Given the description of an element on the screen output the (x, y) to click on. 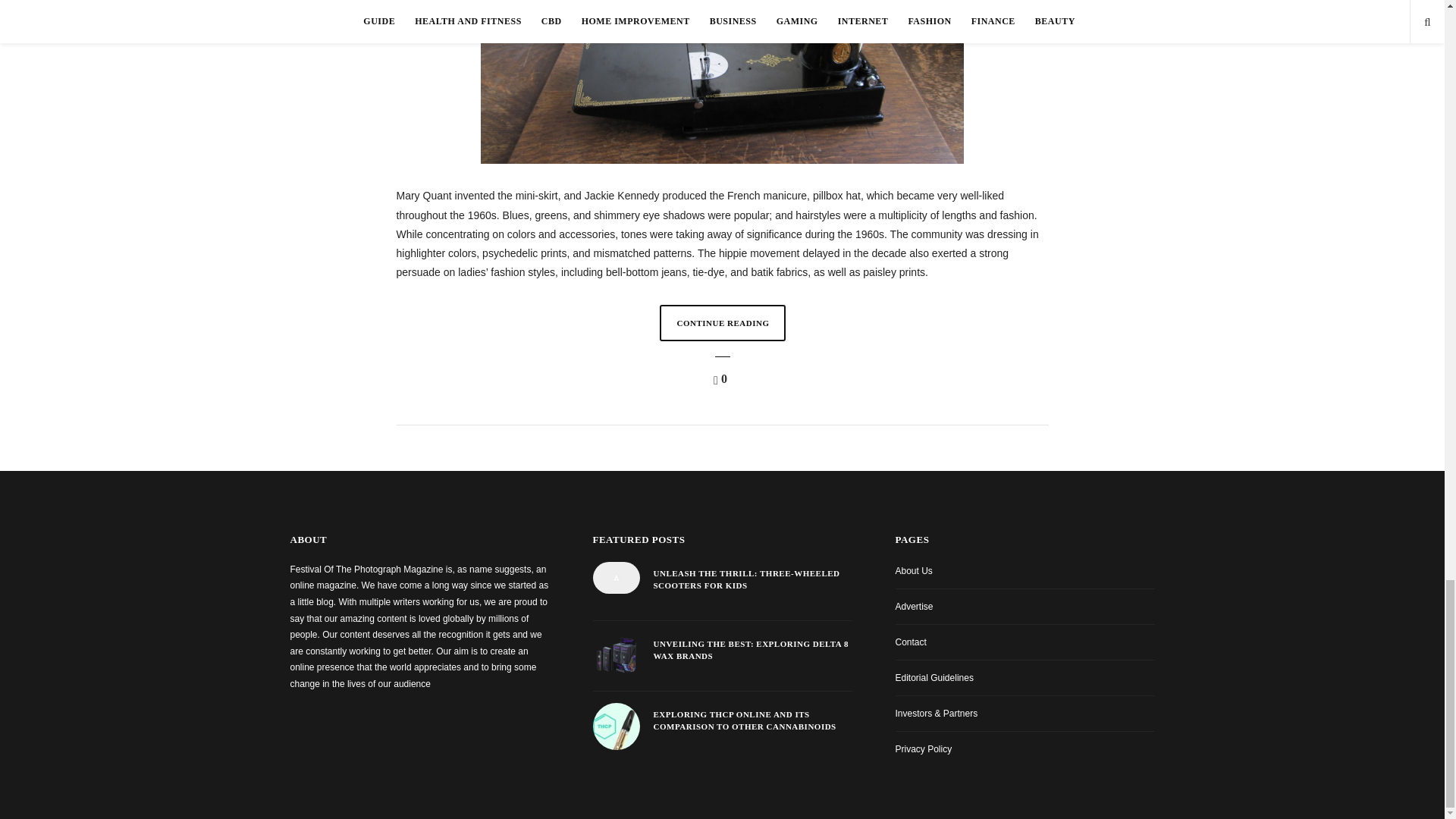
About Us (913, 570)
UNVEILING THE BEST: EXPLORING DELTA 8 WAX BRANDS (752, 650)
UNLEASH THE THRILL: THREE-WHEELED SCOOTERS FOR KIDS (752, 579)
Advertise (914, 606)
Like (721, 378)
 0 (721, 378)
CONTINUE READING (722, 322)
